Given the description of an element on the screen output the (x, y) to click on. 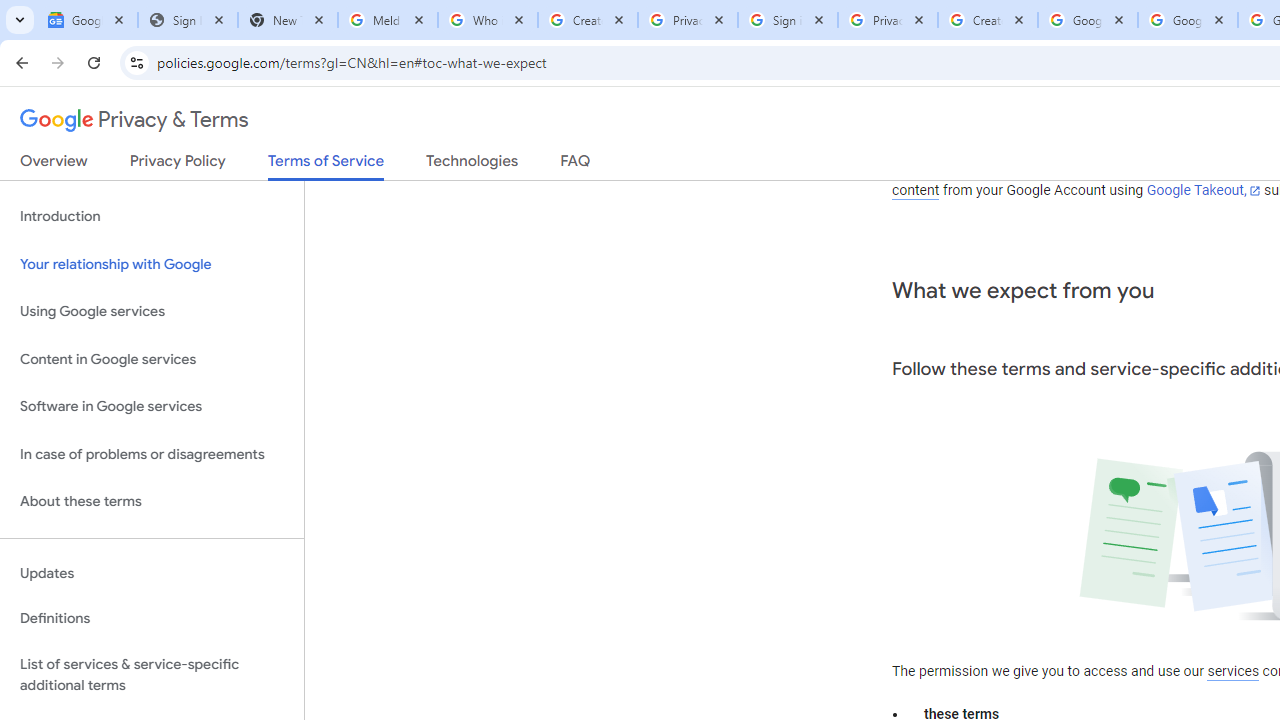
Your relationship with Google (152, 263)
Software in Google services (152, 407)
